Given the description of an element on the screen output the (x, y) to click on. 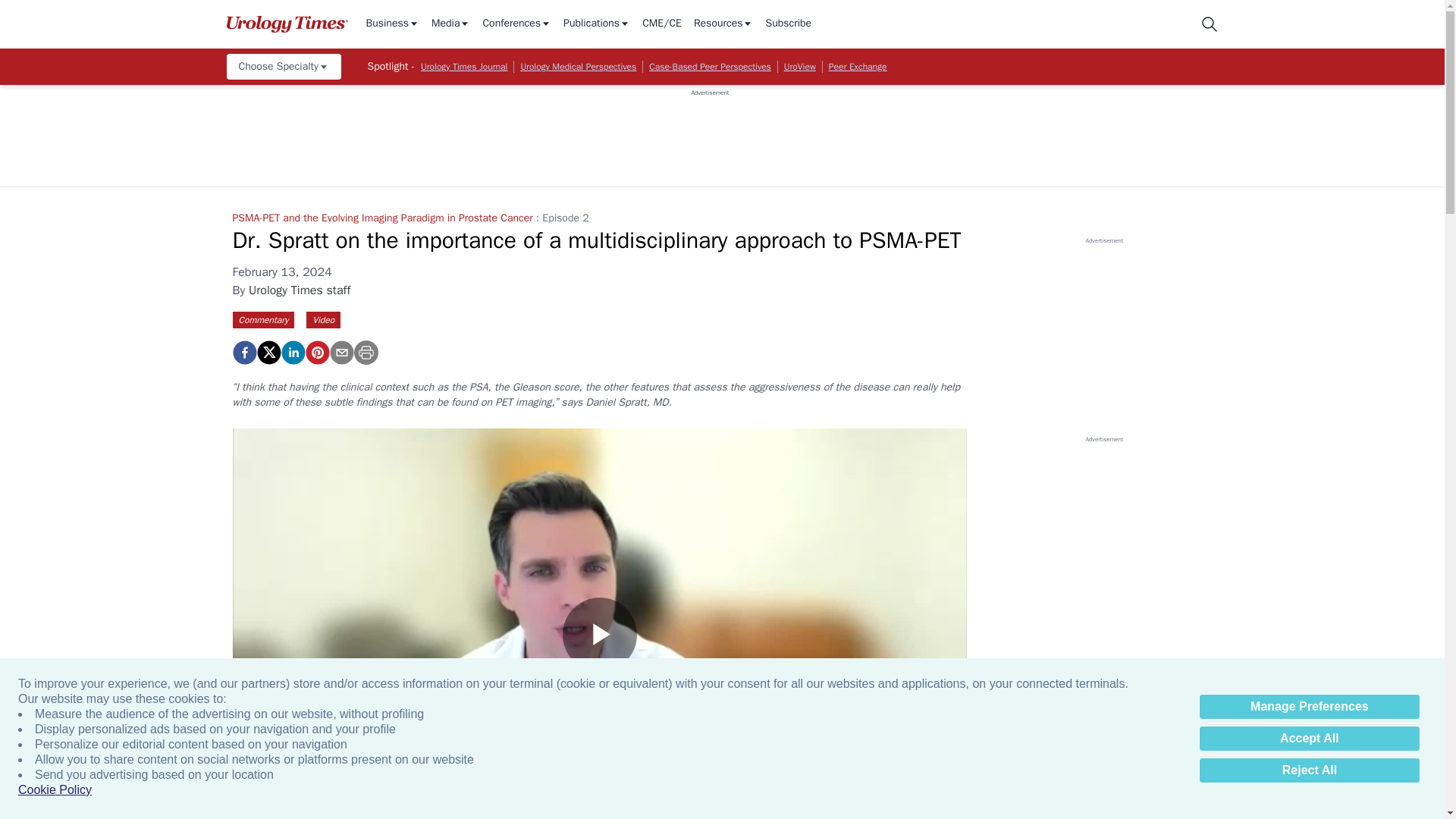
Media (450, 23)
Accept All (1309, 738)
Cookie Policy (54, 789)
3rd party ad content (709, 131)
Play Video (599, 634)
Publications (596, 23)
Reject All (1309, 769)
Manage Preferences (1309, 706)
Conferences (516, 23)
Business (392, 23)
